Given the description of an element on the screen output the (x, y) to click on. 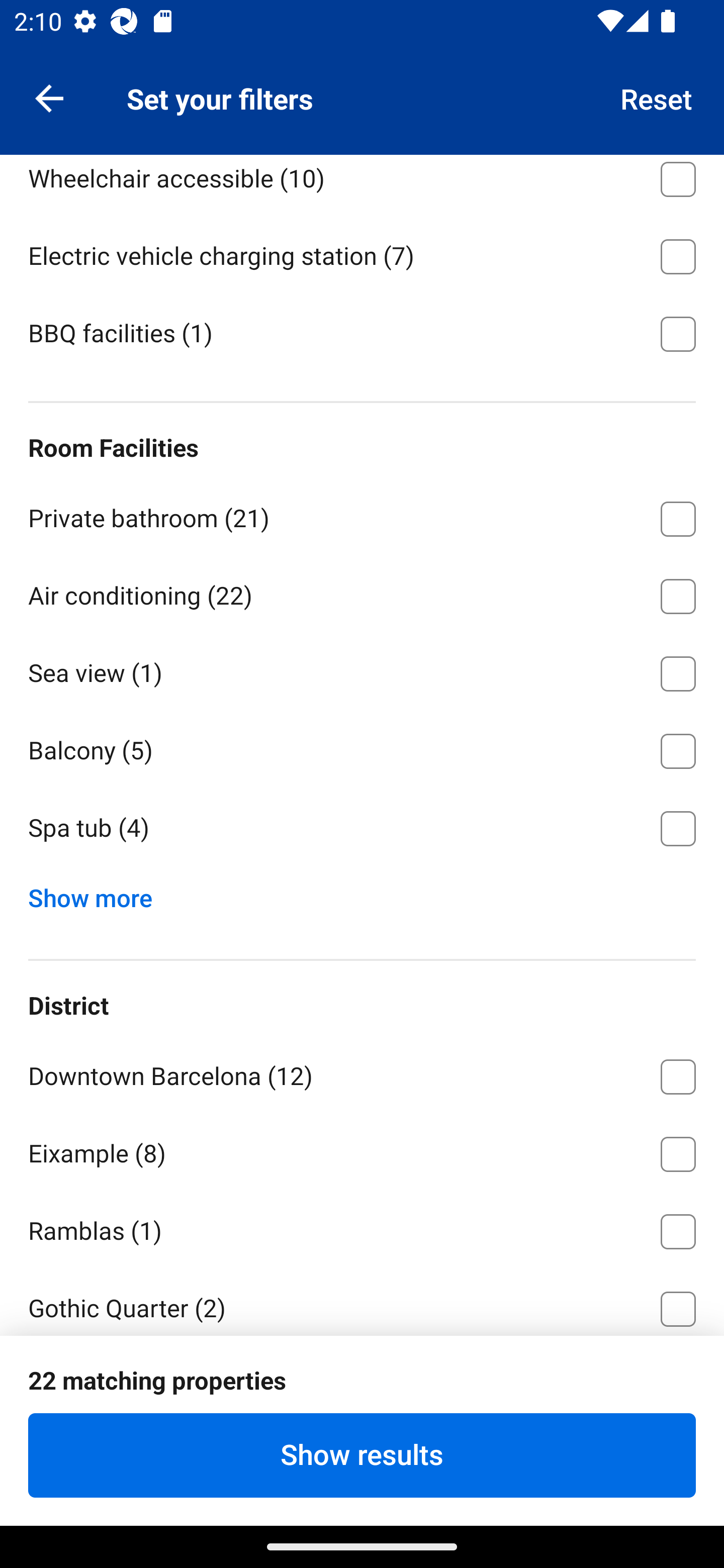
Navigate up (49, 97)
Family rooms ⁦(15) (361, 98)
Reset (656, 97)
Wheelchair accessible ⁦(10) (361, 184)
Electric vehicle charging station ⁦(7) (361, 252)
BBQ facilities ⁦(1) (361, 332)
Private bathroom ⁦(21) (361, 515)
Air conditioning ⁦(22) (361, 593)
Sea view ⁦(1) (361, 669)
Balcony ⁦(5) (361, 747)
Spa tub ⁦(4) (361, 828)
Show more (97, 893)
Downtown Barcelona ⁦(12) (361, 1072)
Eixample ⁦(8) (361, 1150)
Ramblas ⁦(1) (361, 1228)
Gothic Quarter ⁦(2) (361, 1300)
Guests' favorite area ⁦(16) (361, 1385)
Show results (361, 1454)
